Given the description of an element on the screen output the (x, y) to click on. 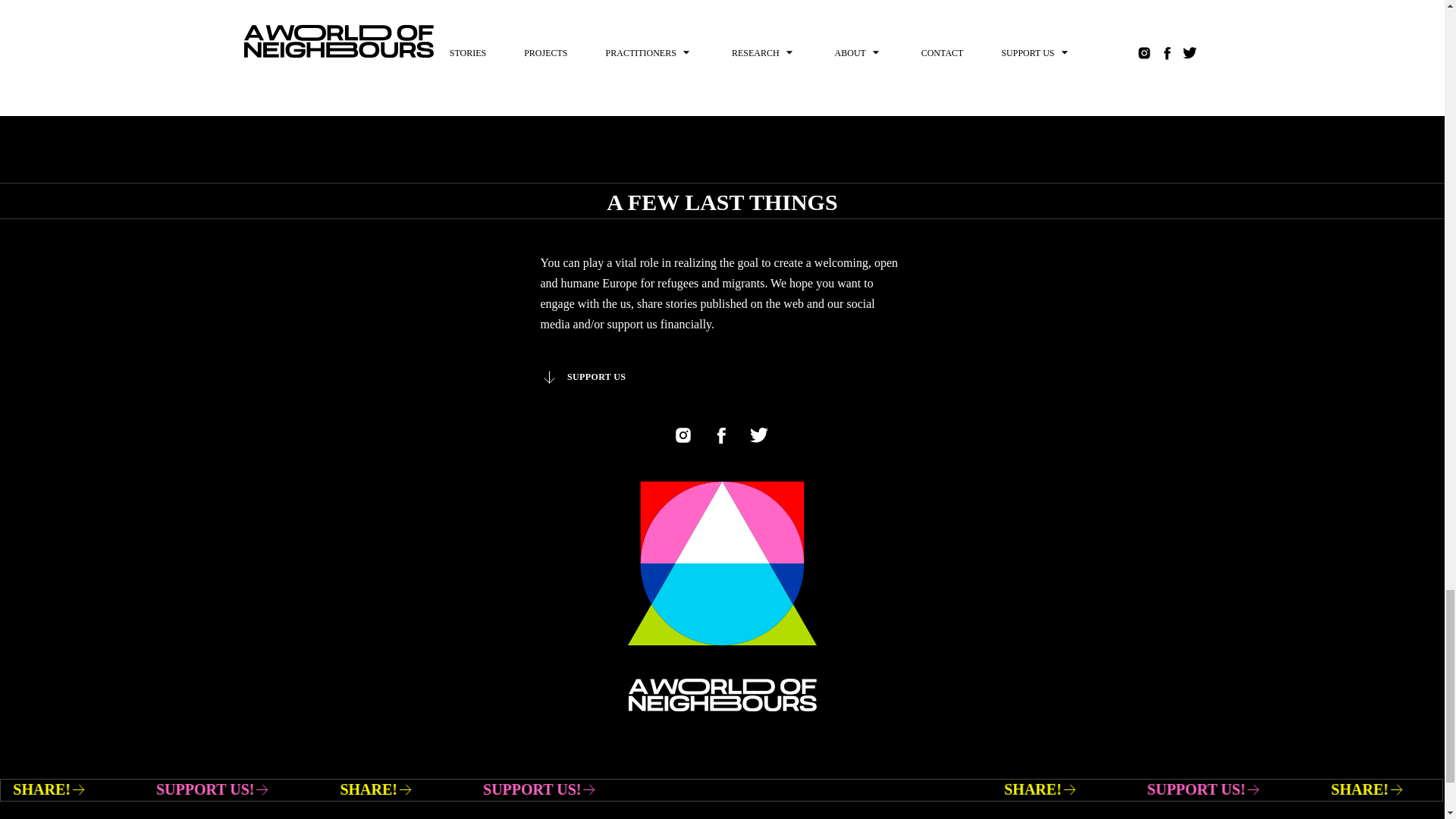
SUPPORT US (583, 376)
